Given the description of an element on the screen output the (x, y) to click on. 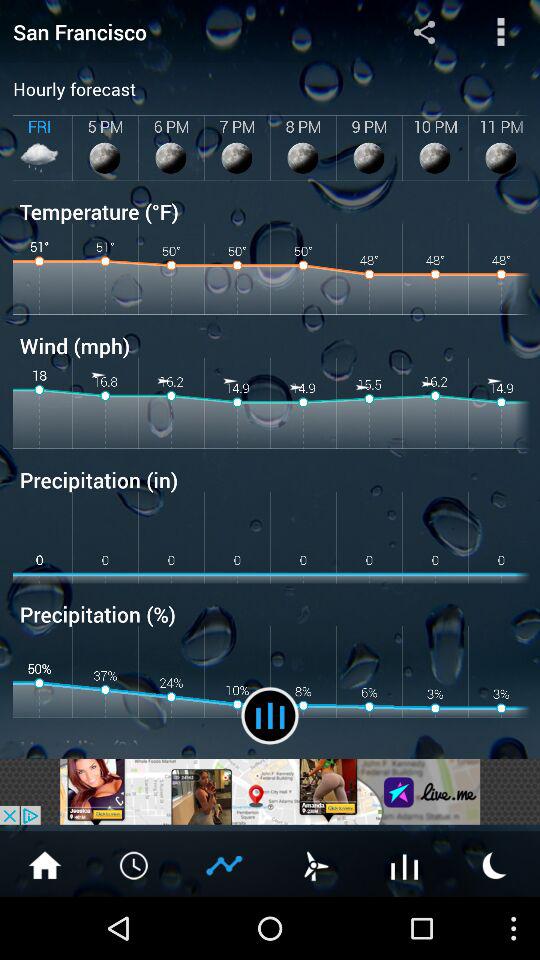
click the item to the right of the san francisco app (424, 31)
